Given the description of an element on the screen output the (x, y) to click on. 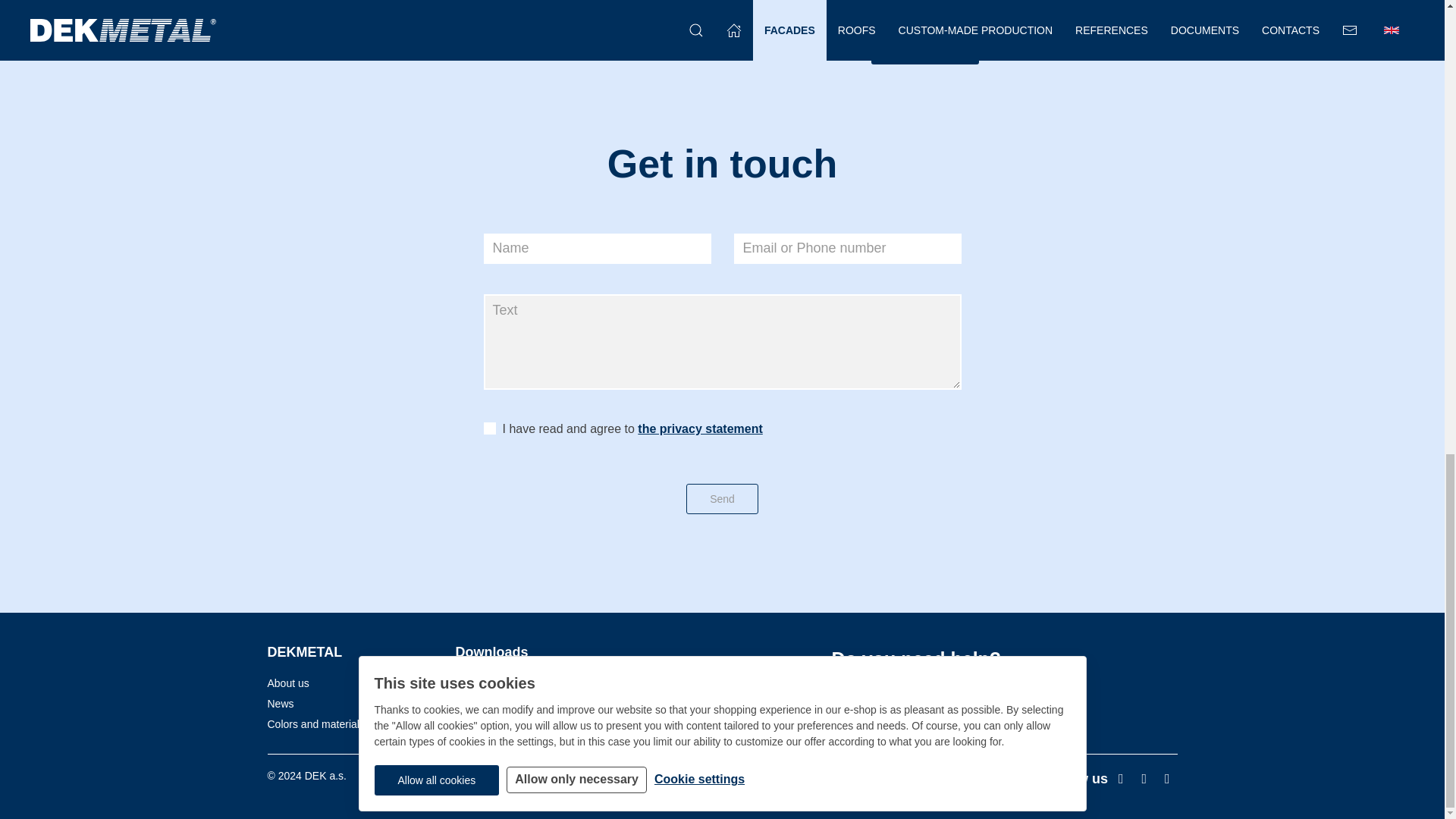
on (489, 428)
